Given the description of an element on the screen output the (x, y) to click on. 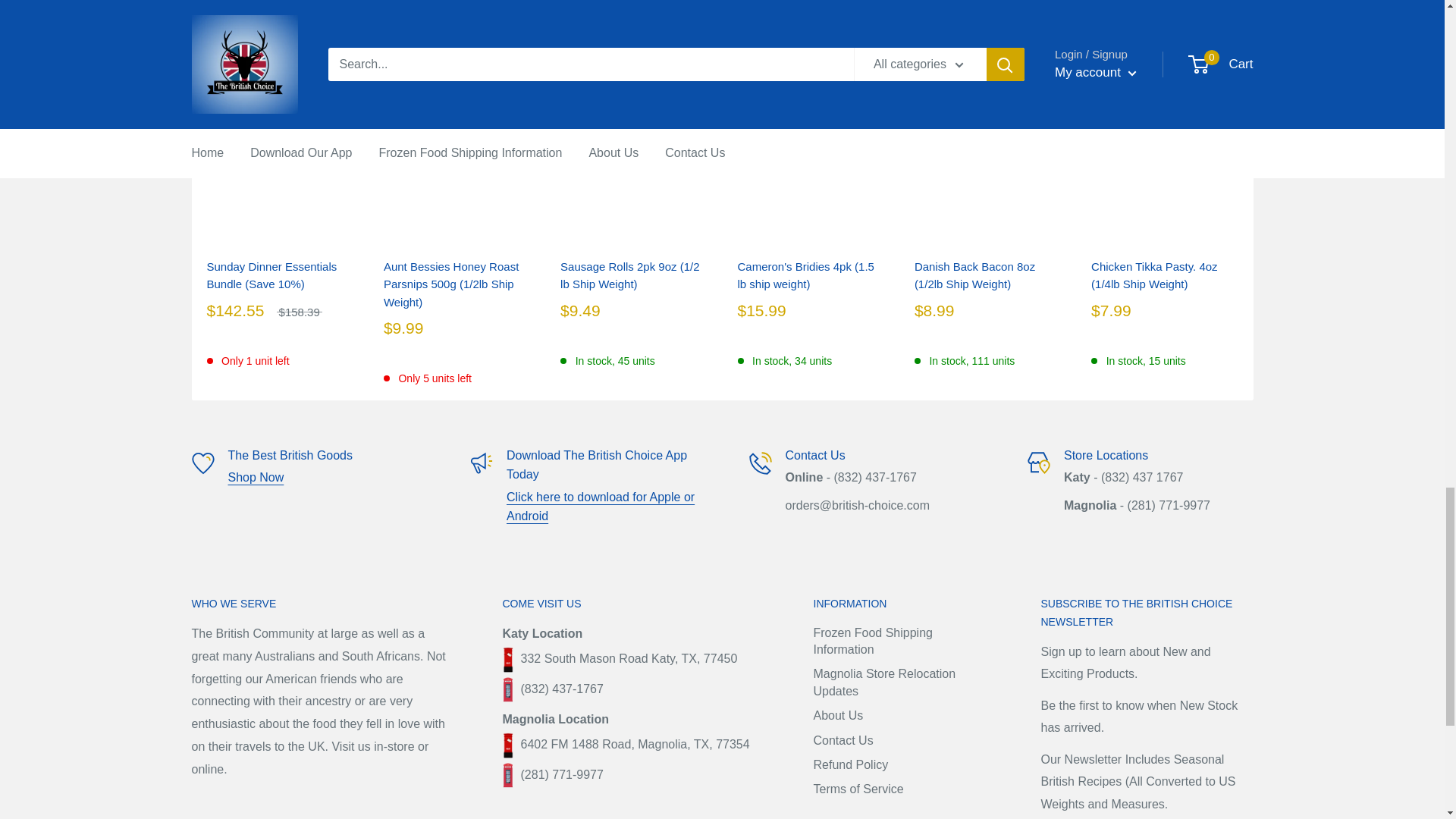
Download The British Choice App (600, 506)
All Collections (255, 477)
